Given the description of an element on the screen output the (x, y) to click on. 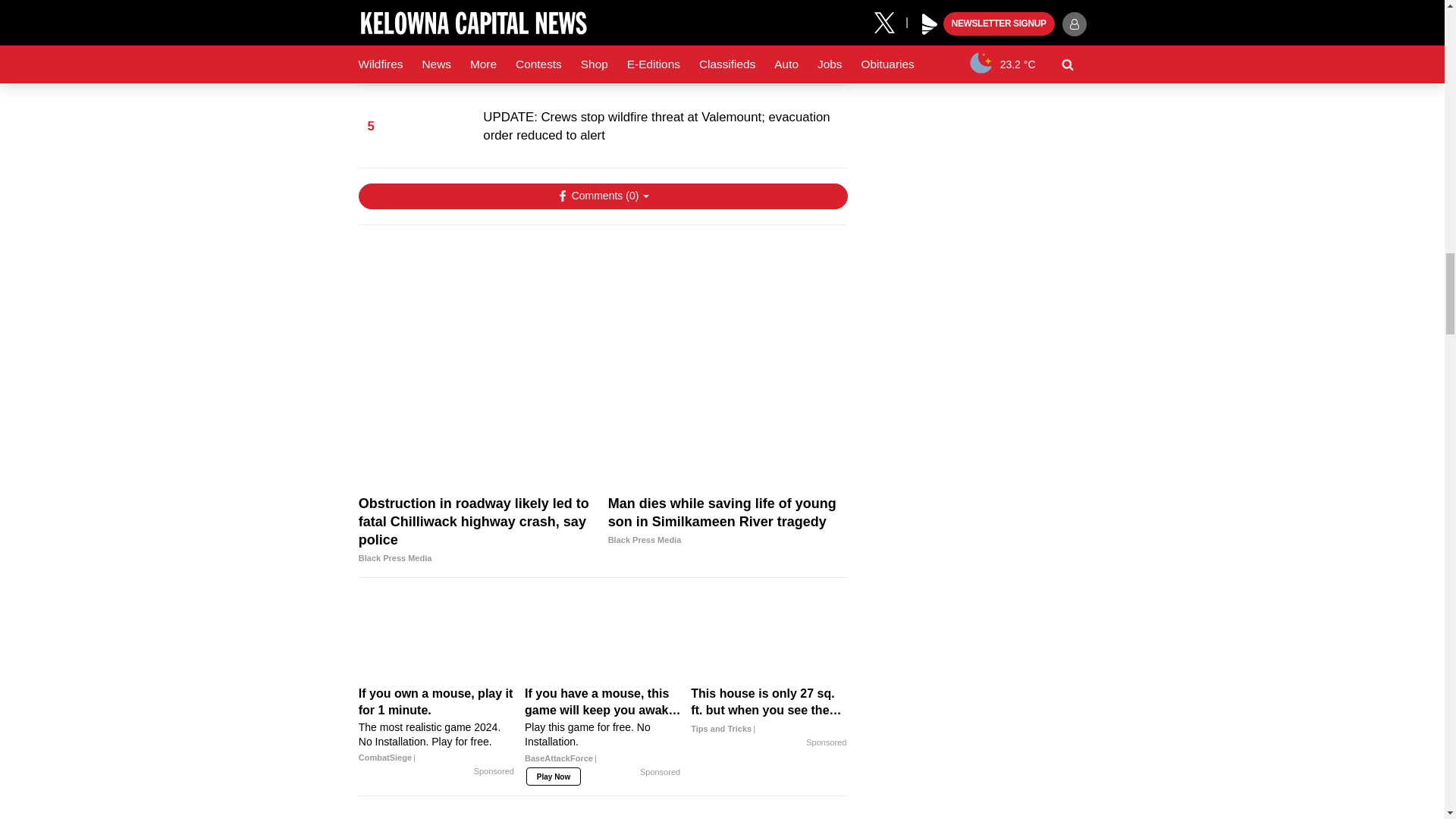
Show Comments (602, 196)
If you own a mouse, play it for 1 minute. (436, 725)
